Given the description of an element on the screen output the (x, y) to click on. 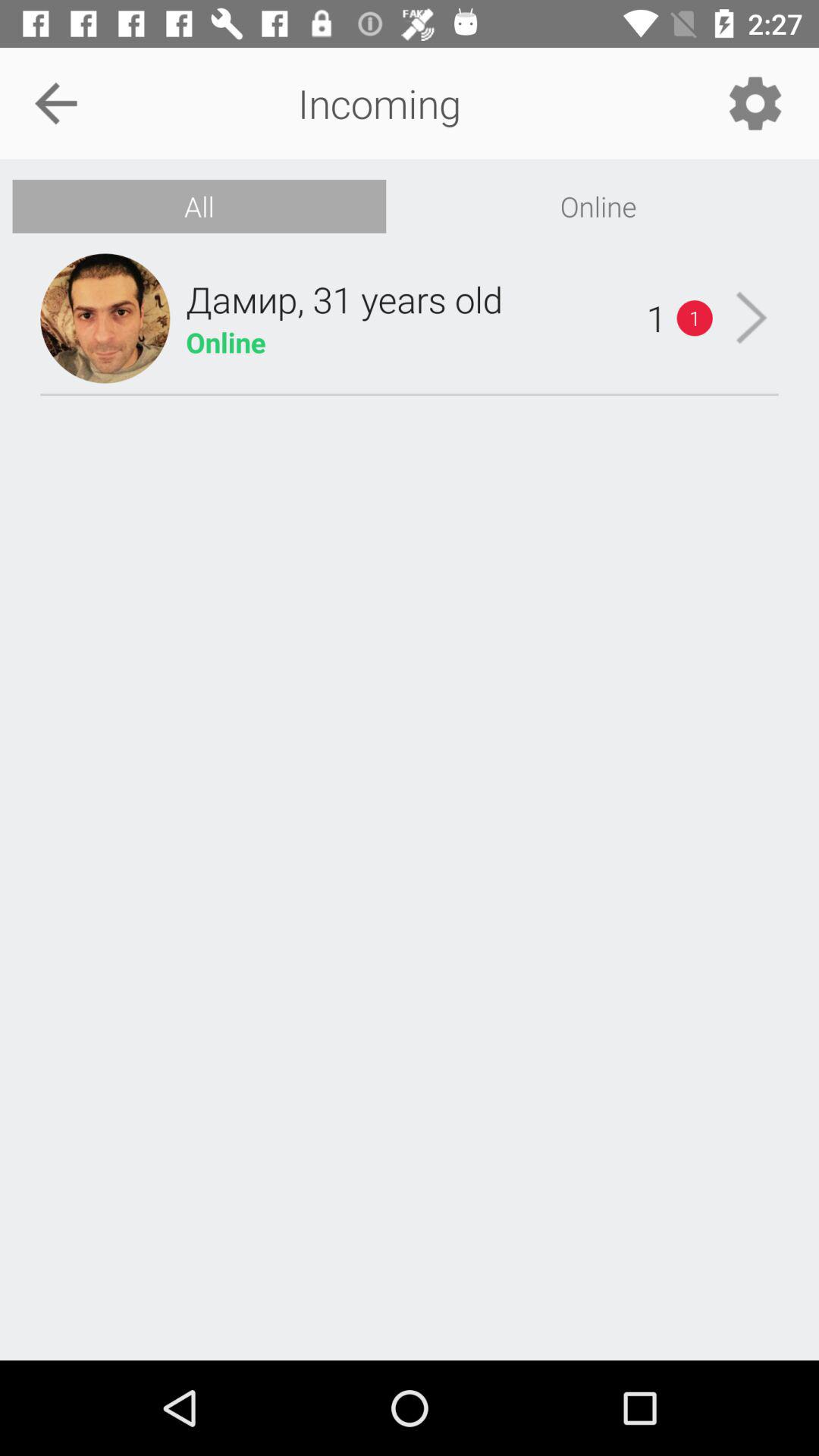
select item above the online (755, 103)
